Given the description of an element on the screen output the (x, y) to click on. 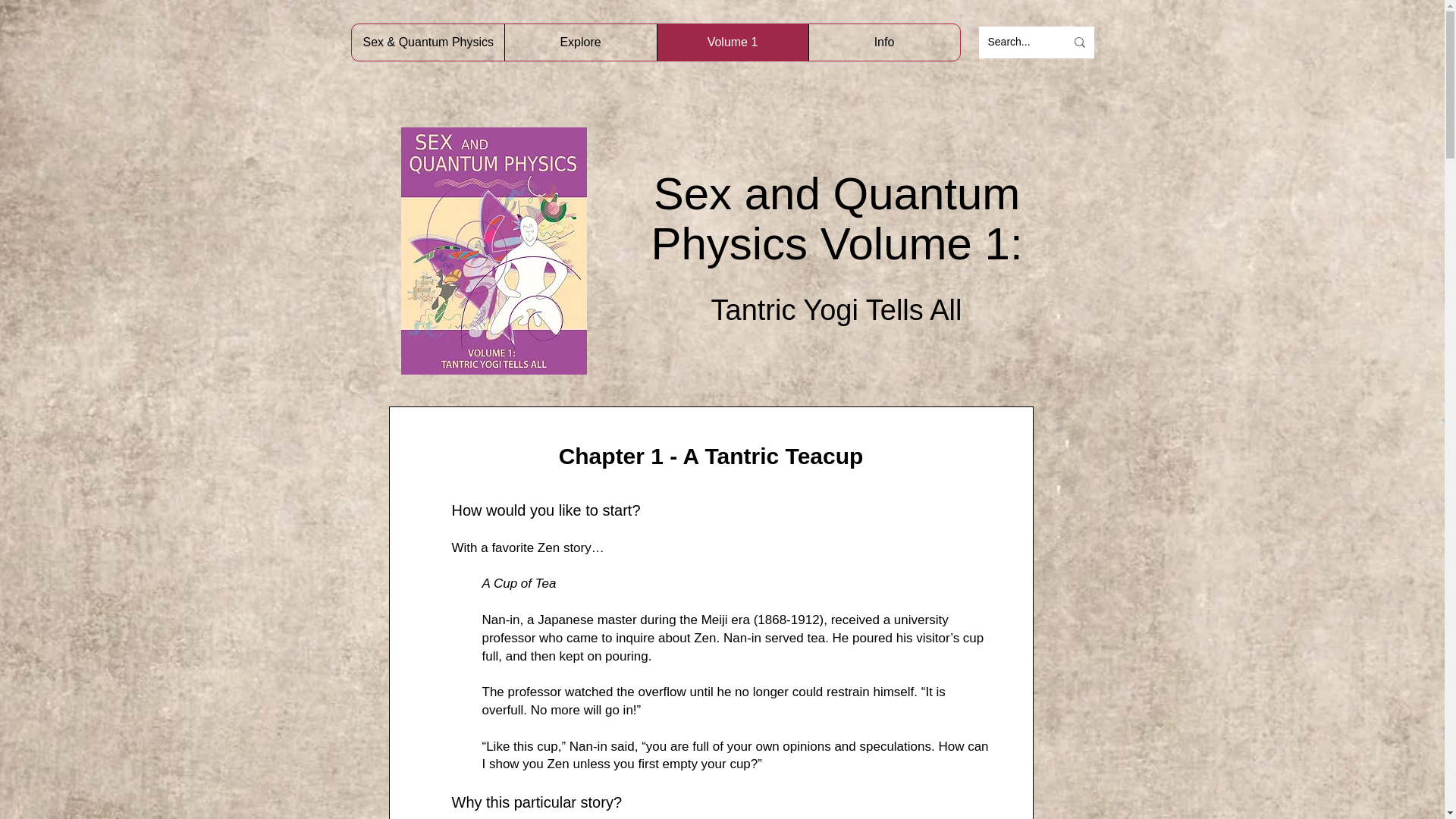
Info (883, 42)
Volume 1 (732, 42)
Explore (579, 42)
